Given the description of an element on the screen output the (x, y) to click on. 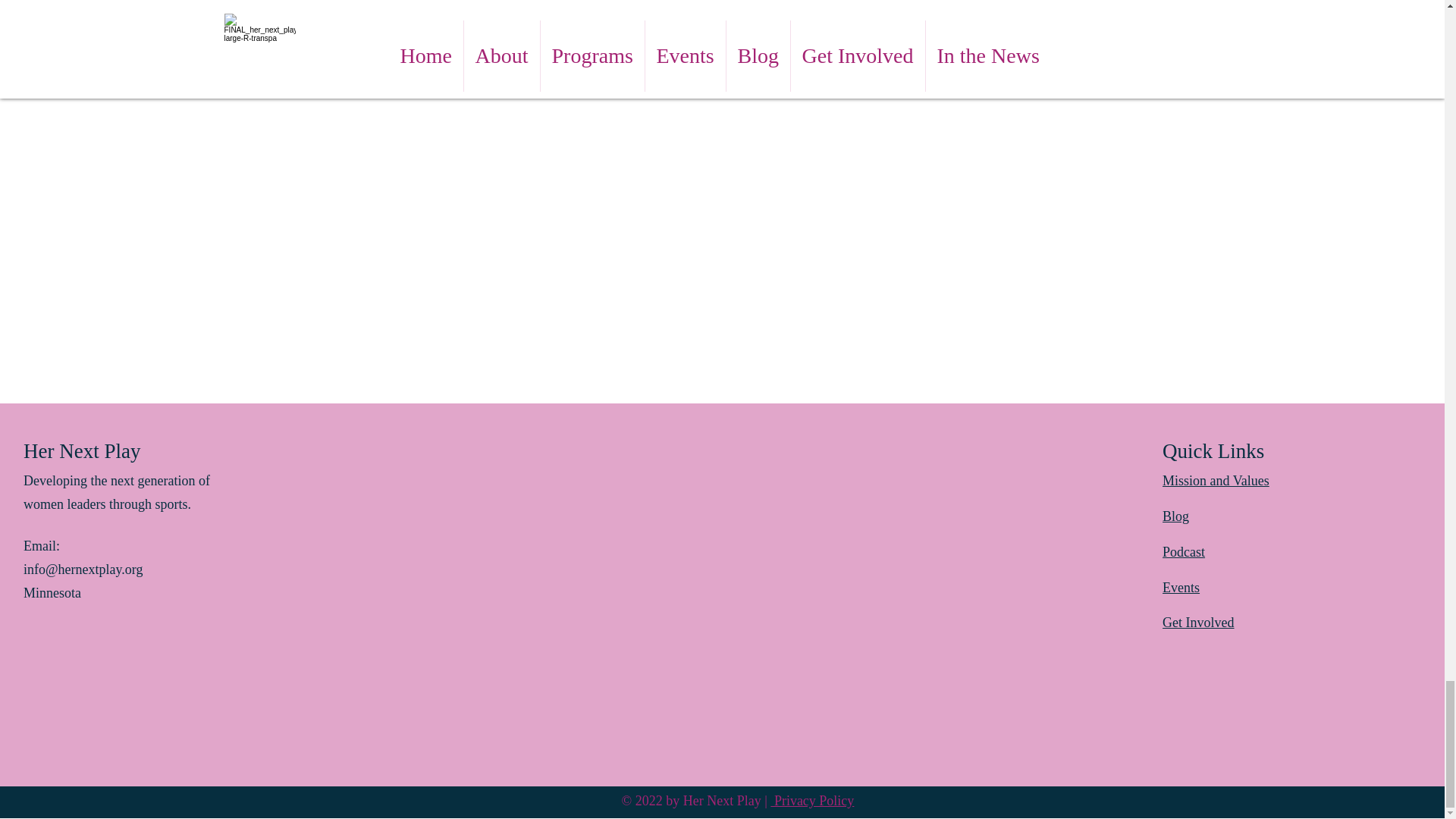
Mission and Values (1215, 480)
Events (1180, 587)
Blog (1175, 516)
 Privacy Policy (811, 800)
Podcast (1183, 551)
Get Involved (1197, 622)
